Given the description of an element on the screen output the (x, y) to click on. 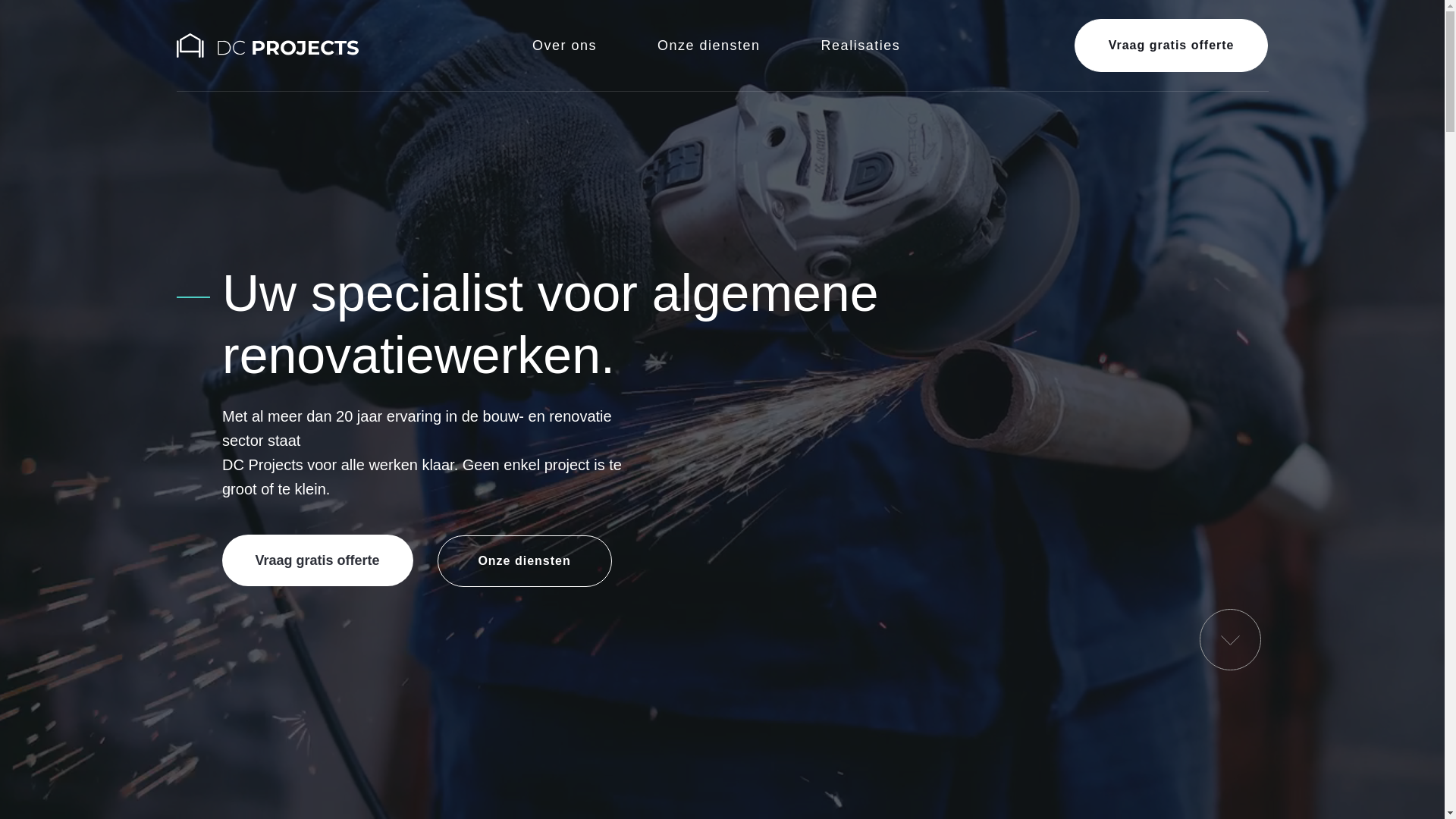
Over ons Element type: text (564, 45)
Onze diensten Element type: text (708, 45)
Vraag gratis offerte Element type: text (1171, 45)
Realisaties Element type: text (861, 45)
Vraag gratis offerte Element type: text (316, 560)
Onze diensten Element type: text (524, 560)
